Given the description of an element on the screen output the (x, y) to click on. 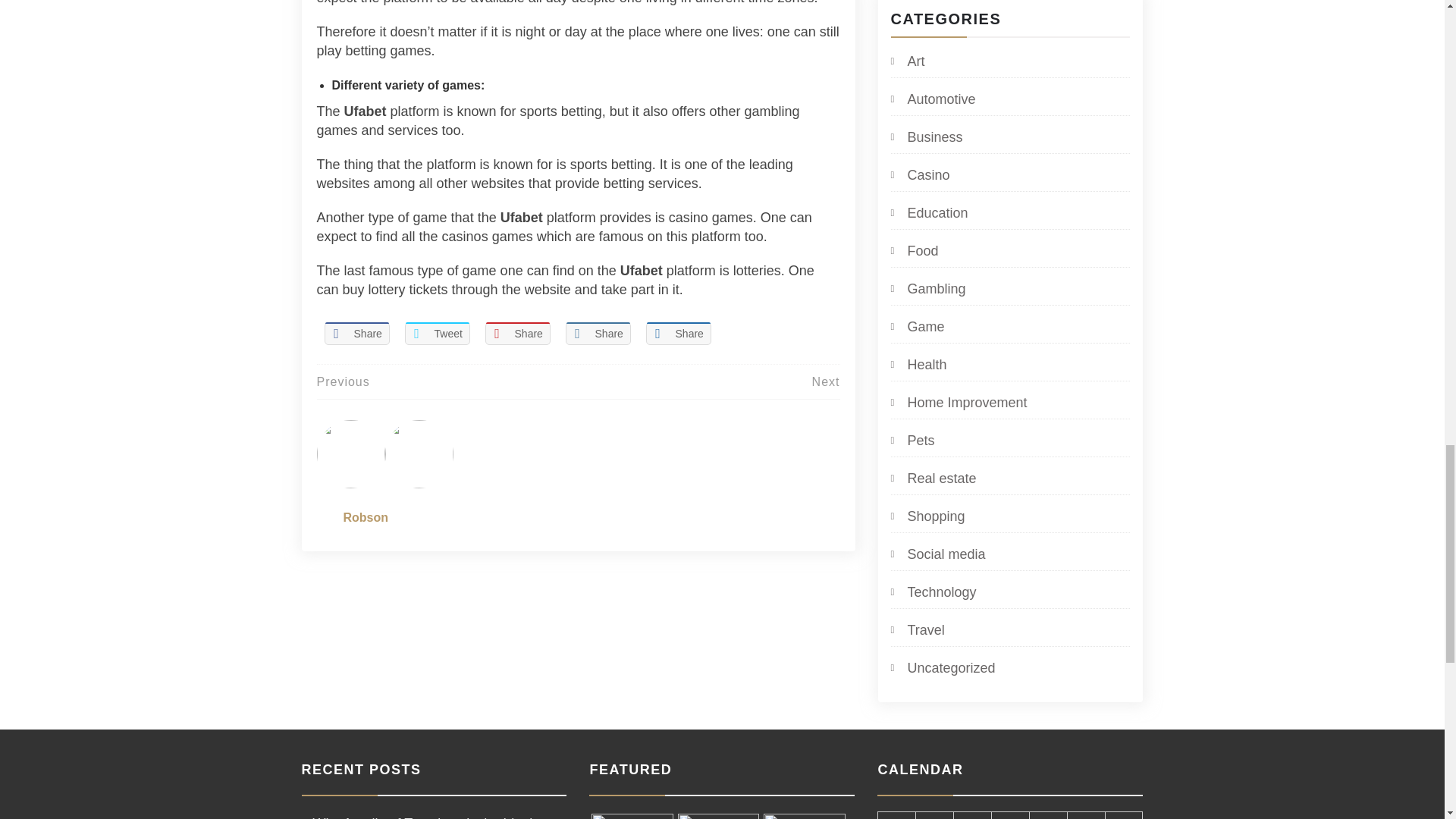
Robson (365, 517)
Monday (896, 815)
Share (678, 333)
Sunday (1123, 815)
Tweet (437, 333)
Share (517, 333)
Previous (343, 381)
Saturday (1086, 815)
Posts by Robson (365, 517)
Share on LinkedIn (598, 333)
